Given the description of an element on the screen output the (x, y) to click on. 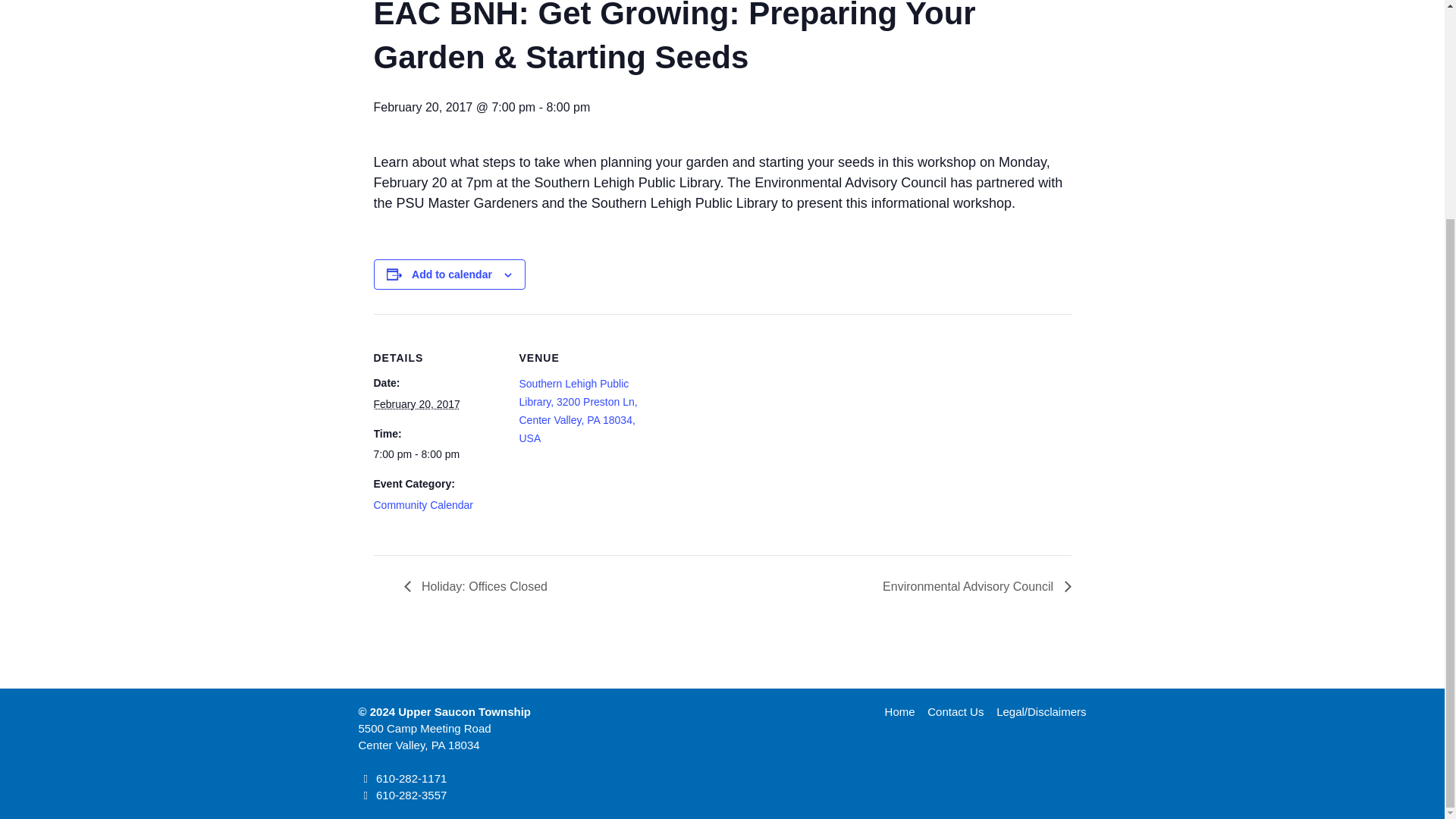
2017-02-20 (416, 404)
2017-02-20 (436, 454)
